Given the description of an element on the screen output the (x, y) to click on. 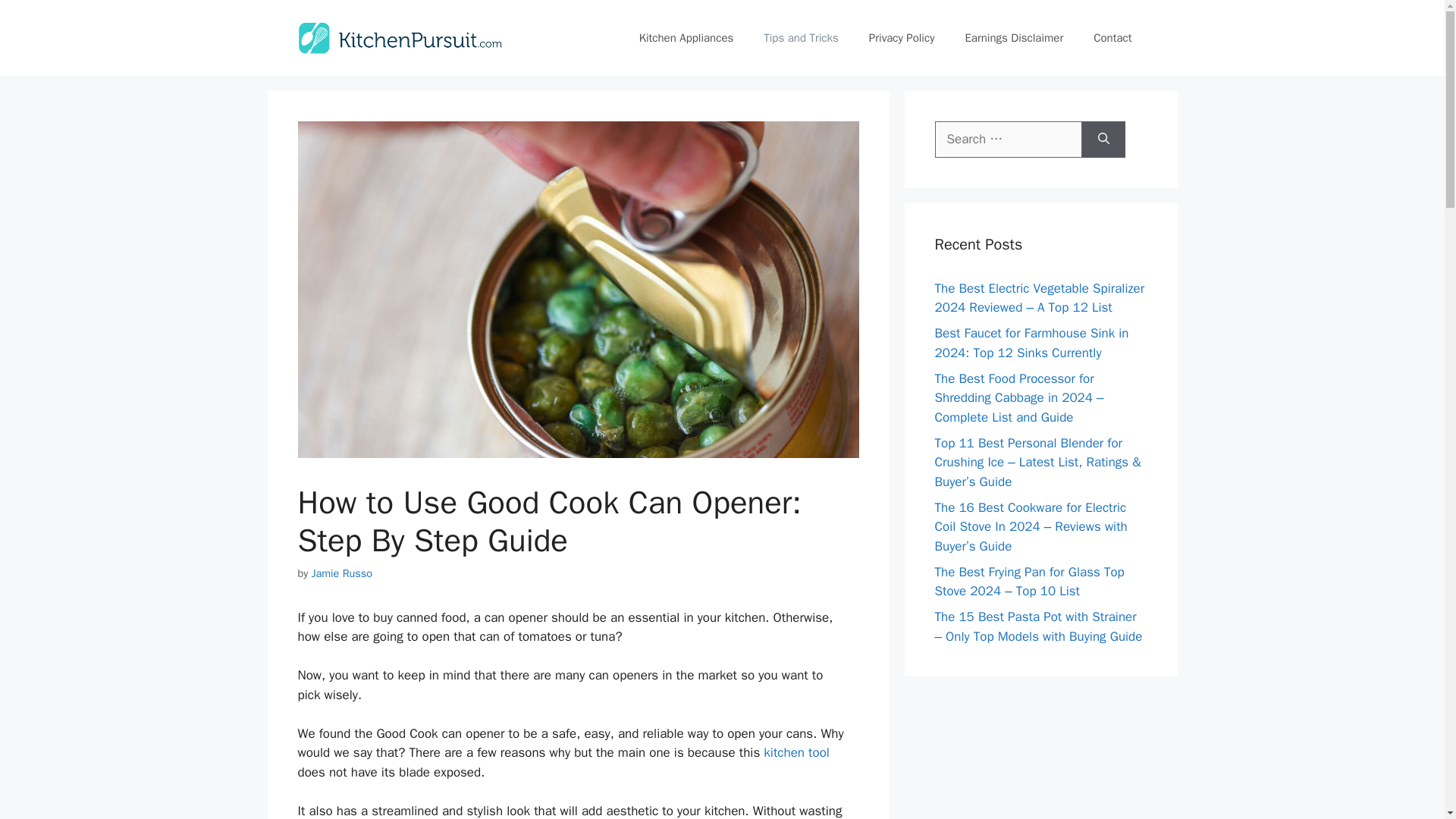
Earnings Disclaimer (1013, 37)
View all posts by Jamie Russo (341, 572)
Jamie Russo (341, 572)
Search for: (1007, 139)
Contact (1112, 37)
Kitchen Appliances (686, 37)
Tips and Tricks (800, 37)
kitchen tool (795, 752)
Privacy Policy (901, 37)
